Given the description of an element on the screen output the (x, y) to click on. 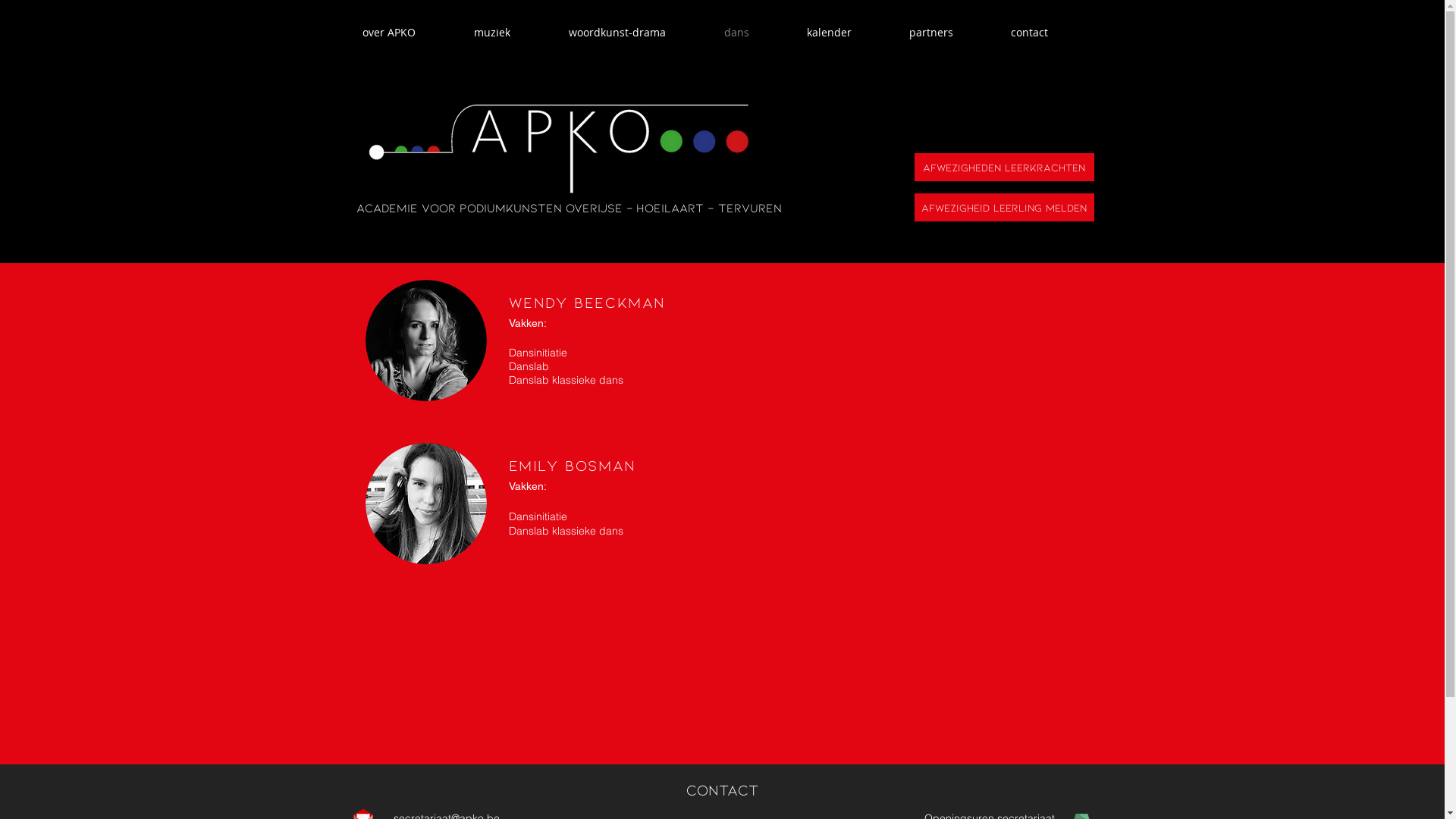
Terug naar startpagina Element type: hover (554, 145)
Afwezigheden leerkrachten Element type: text (1004, 167)
muziek Element type: text (509, 32)
Overijse -Hoeilaar Element type: text (630, 207)
ACademie voor podiumkunsten Element type: text (458, 207)
contact Element type: text (1046, 32)
woordkunst-drama Element type: text (634, 32)
over APKO Element type: text (405, 32)
kalender Element type: text (845, 32)
partners Element type: text (948, 32)
Afwezigheid leerling melden Element type: text (1004, 207)
dans Element type: text (753, 32)
